Given the description of an element on the screen output the (x, y) to click on. 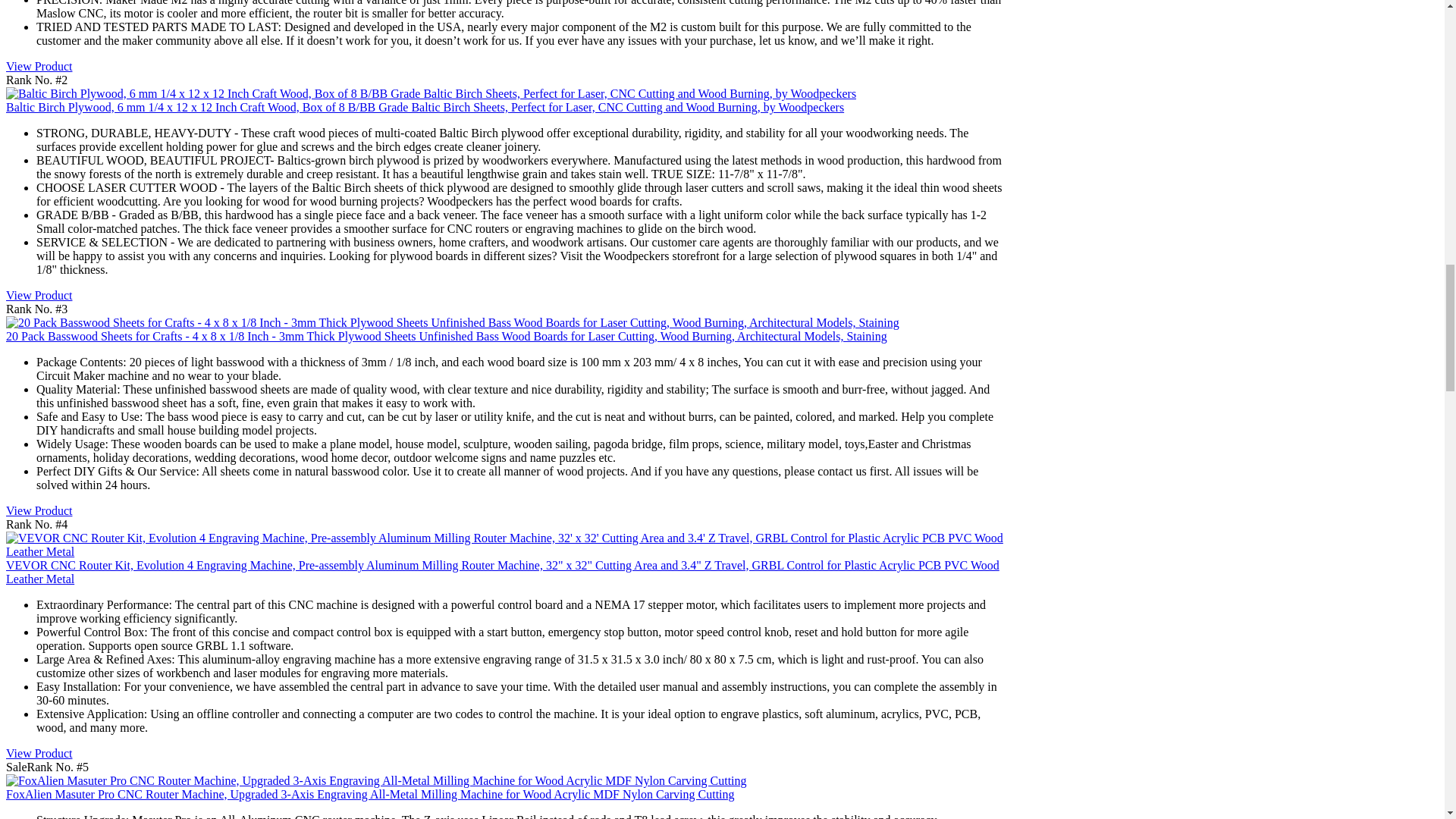
View Product (38, 65)
View Product (38, 295)
View Product (38, 510)
